Given the description of an element on the screen output the (x, y) to click on. 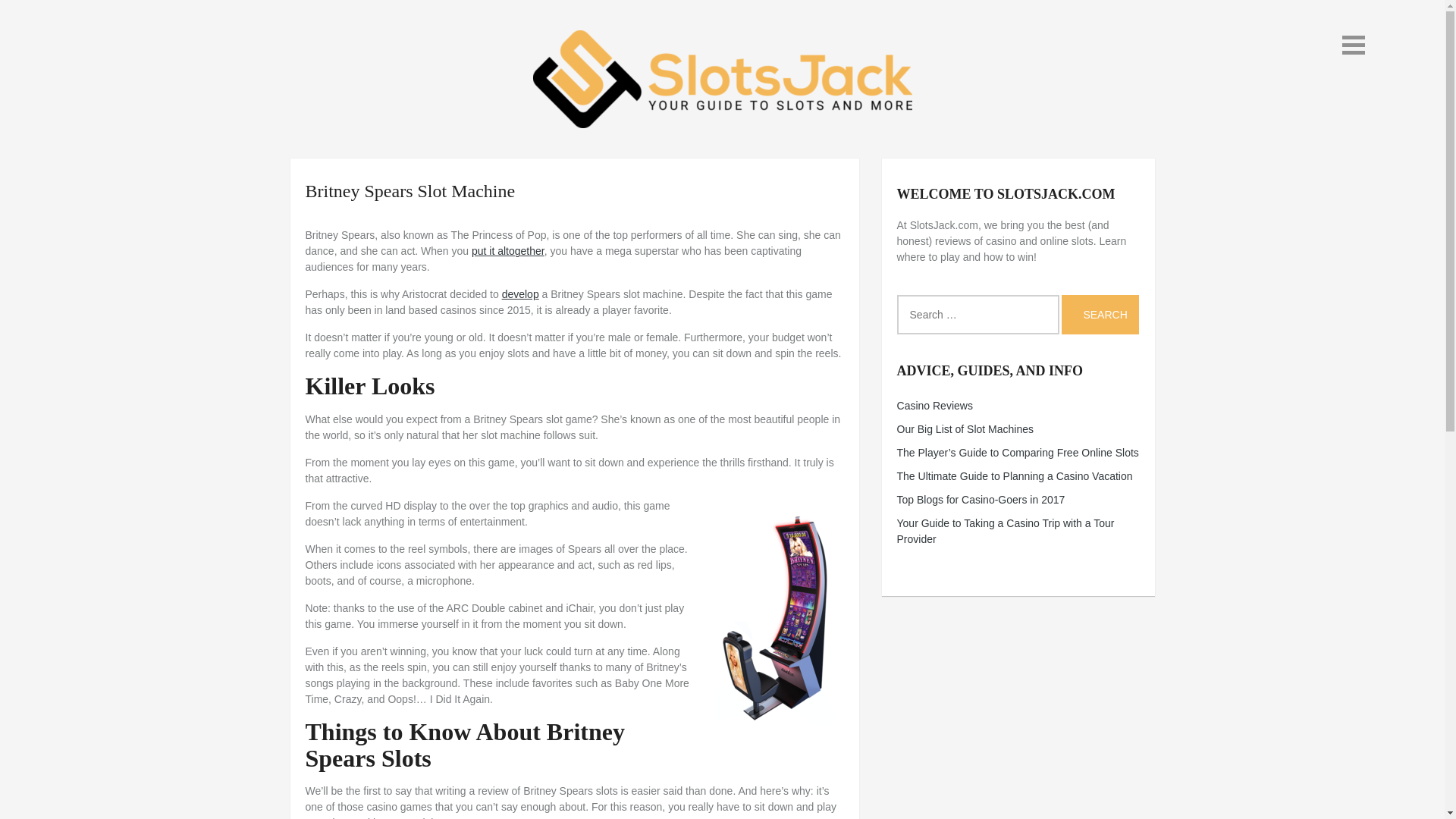
Your Guide to Taking a Casino Trip with a Tour Provider (1005, 530)
put it altogether (507, 250)
Casino Reviews (934, 405)
Our Big List of Slot Machines (964, 428)
Search (1099, 314)
Search (1099, 314)
Top Blogs for Casino-Goers in 2017 (980, 499)
develop (520, 294)
Search (1099, 314)
The Ultimate Guide to Planning a Casino Vacation (1014, 476)
